Given the description of an element on the screen output the (x, y) to click on. 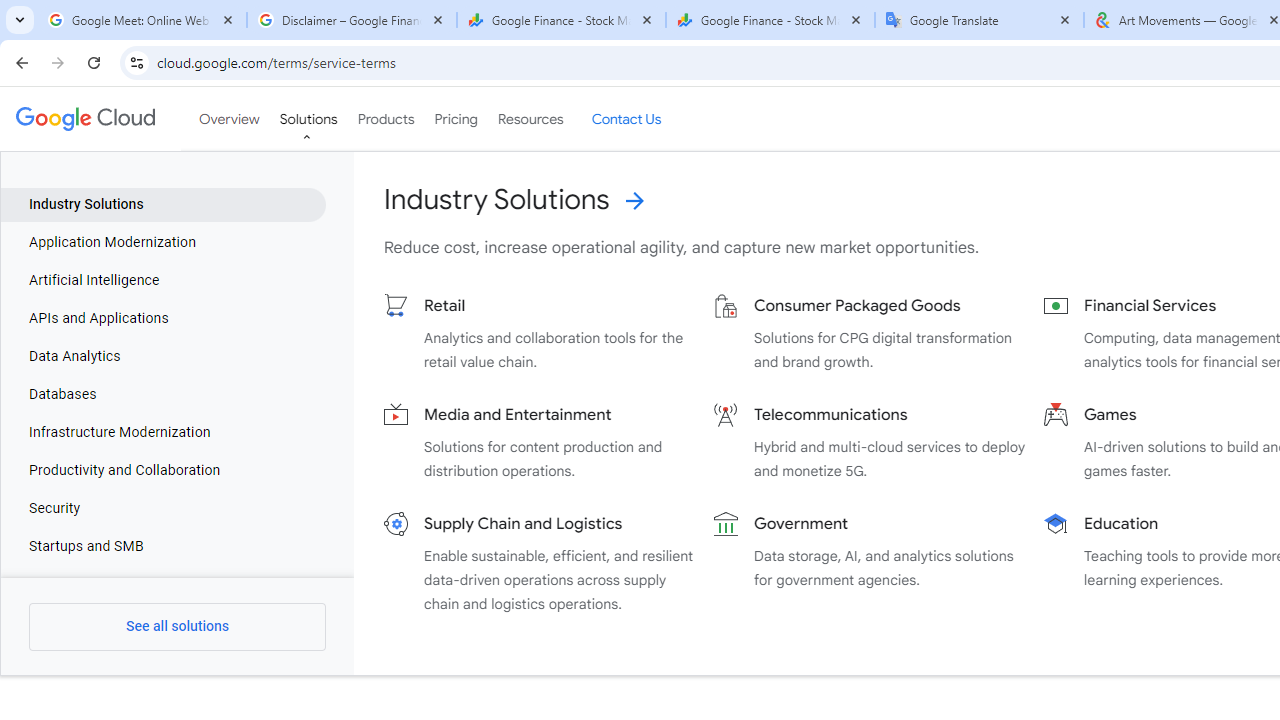
Productivity and Collaboration (163, 471)
Data Analytics (163, 356)
Application Modernization (163, 242)
Products (385, 119)
Startups and SMB (163, 546)
Back to Google Cloud Terms Directory (956, 226)
Resources (530, 119)
Security (163, 508)
